Given the description of an element on the screen output the (x, y) to click on. 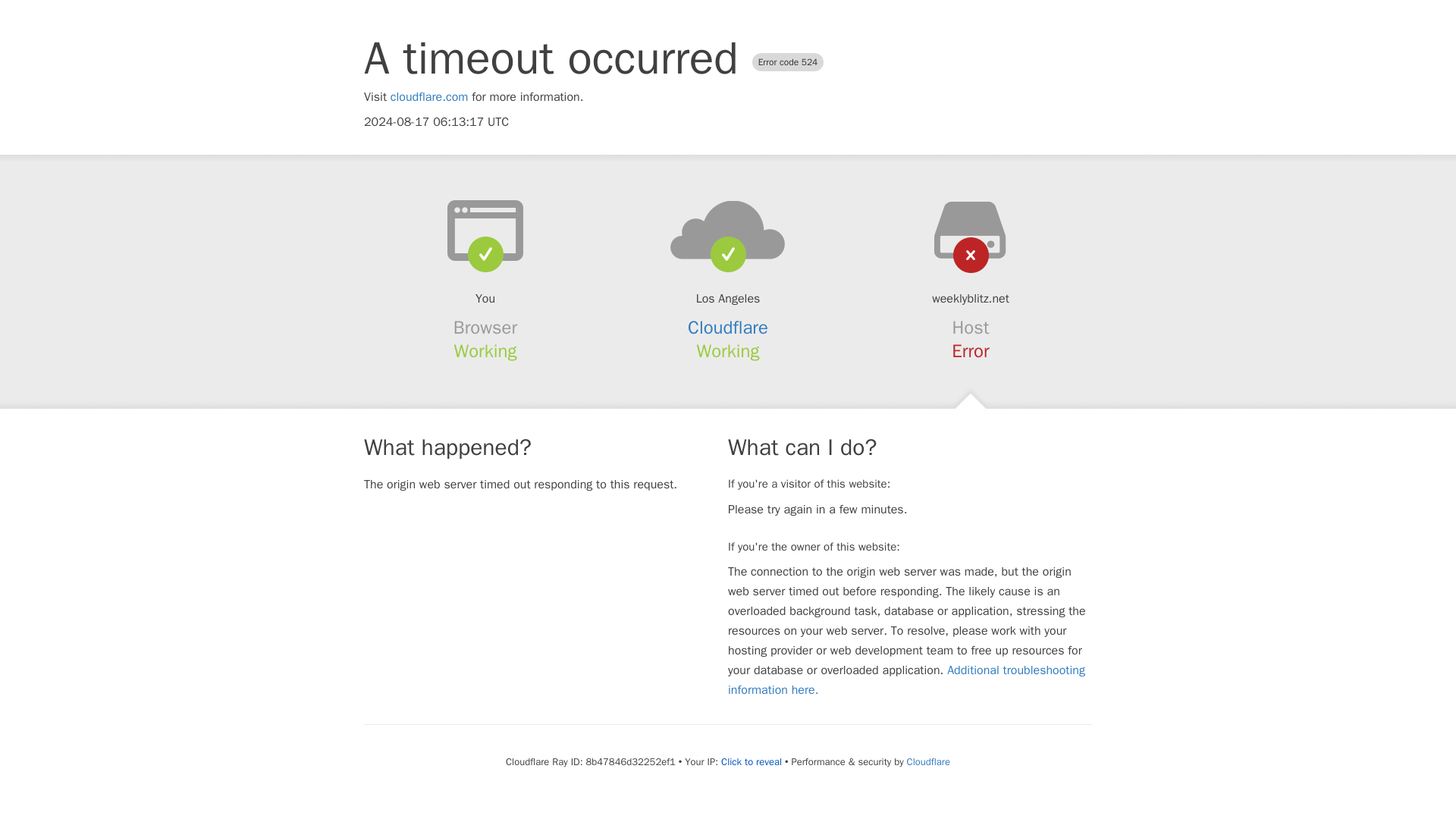
Cloudflare (727, 327)
Additional troubleshooting information here. (906, 679)
Cloudflare (928, 761)
Click to reveal (750, 762)
cloudflare.com (429, 96)
